Given the description of an element on the screen output the (x, y) to click on. 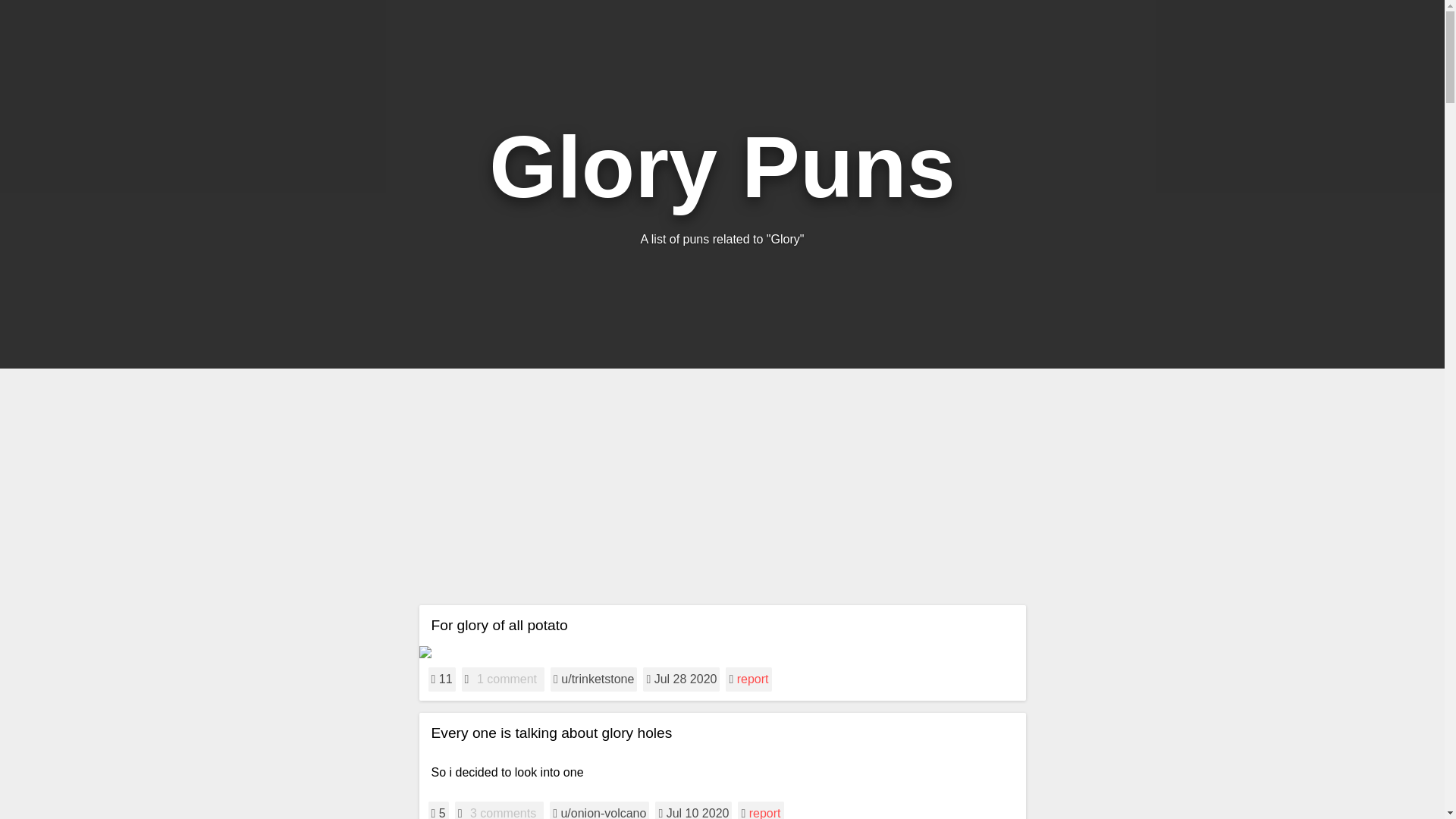
report (764, 812)
3 comments (502, 812)
1 comment (506, 679)
report (752, 678)
